Given the description of an element on the screen output the (x, y) to click on. 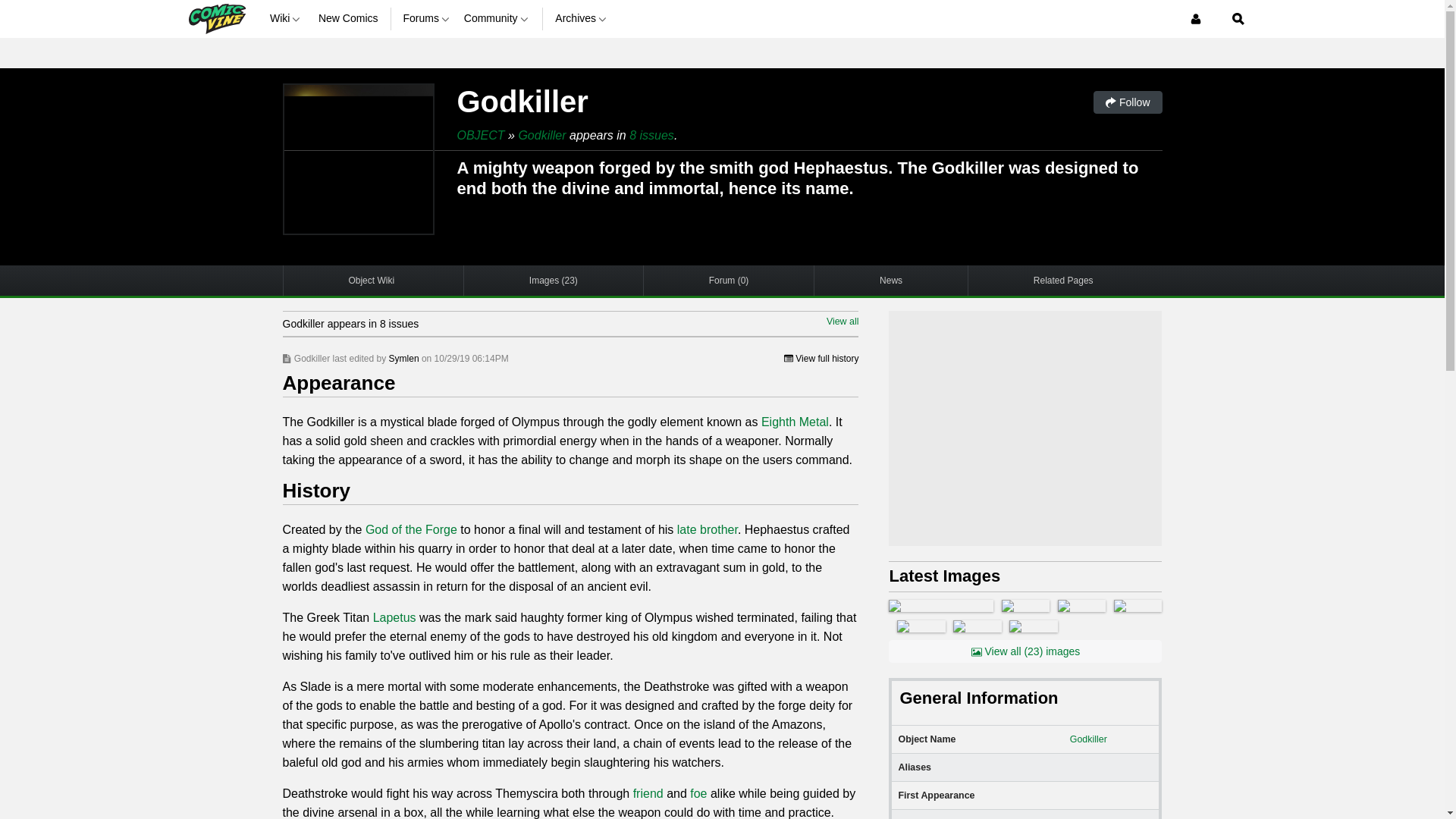
New Comics (348, 18)
Forums (427, 18)
Wiki (287, 18)
Community (497, 18)
Comic Vine (215, 18)
